Given the description of an element on the screen output the (x, y) to click on. 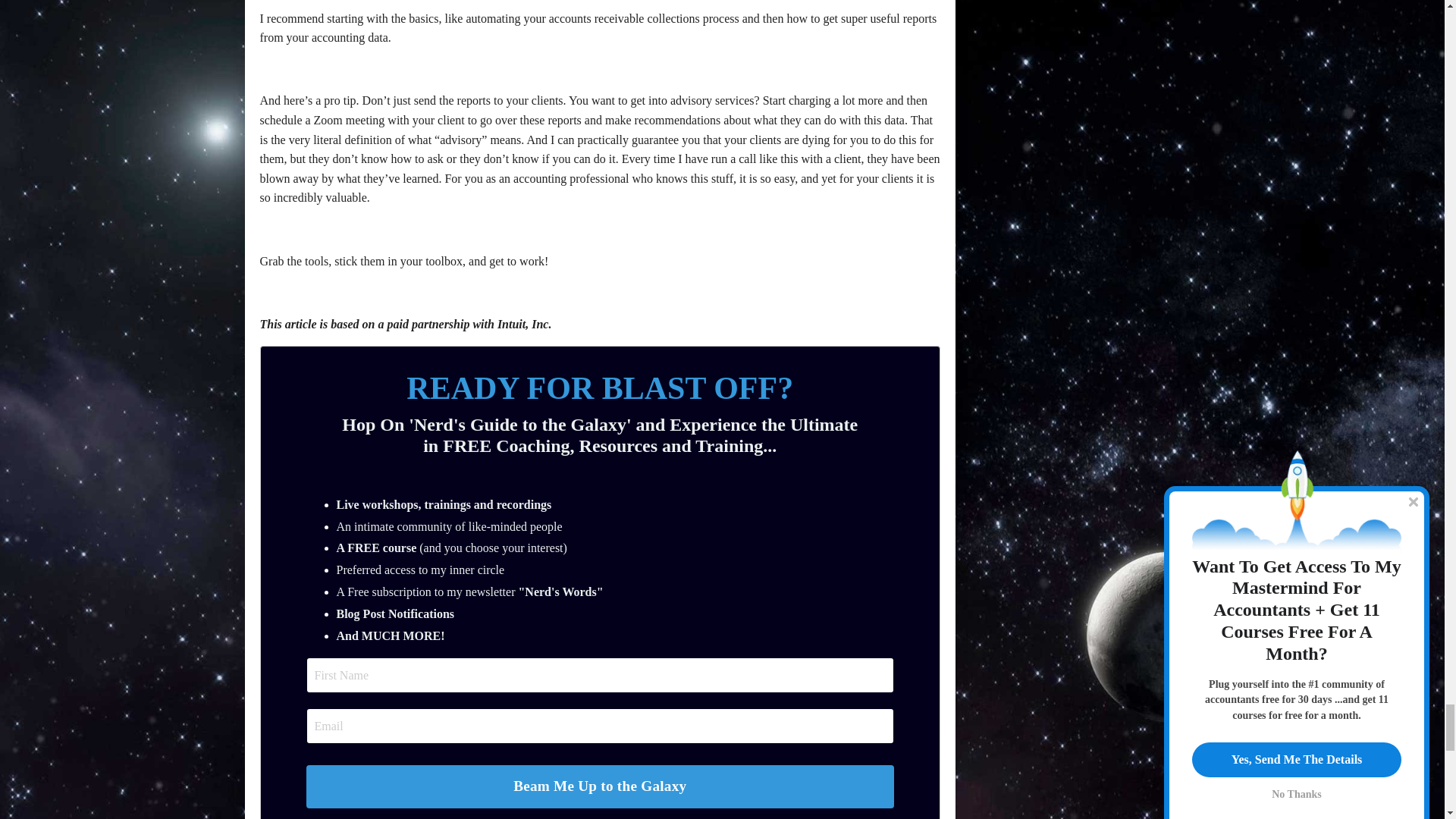
Beam Me Up to the Galaxy (600, 786)
